Given the description of an element on the screen output the (x, y) to click on. 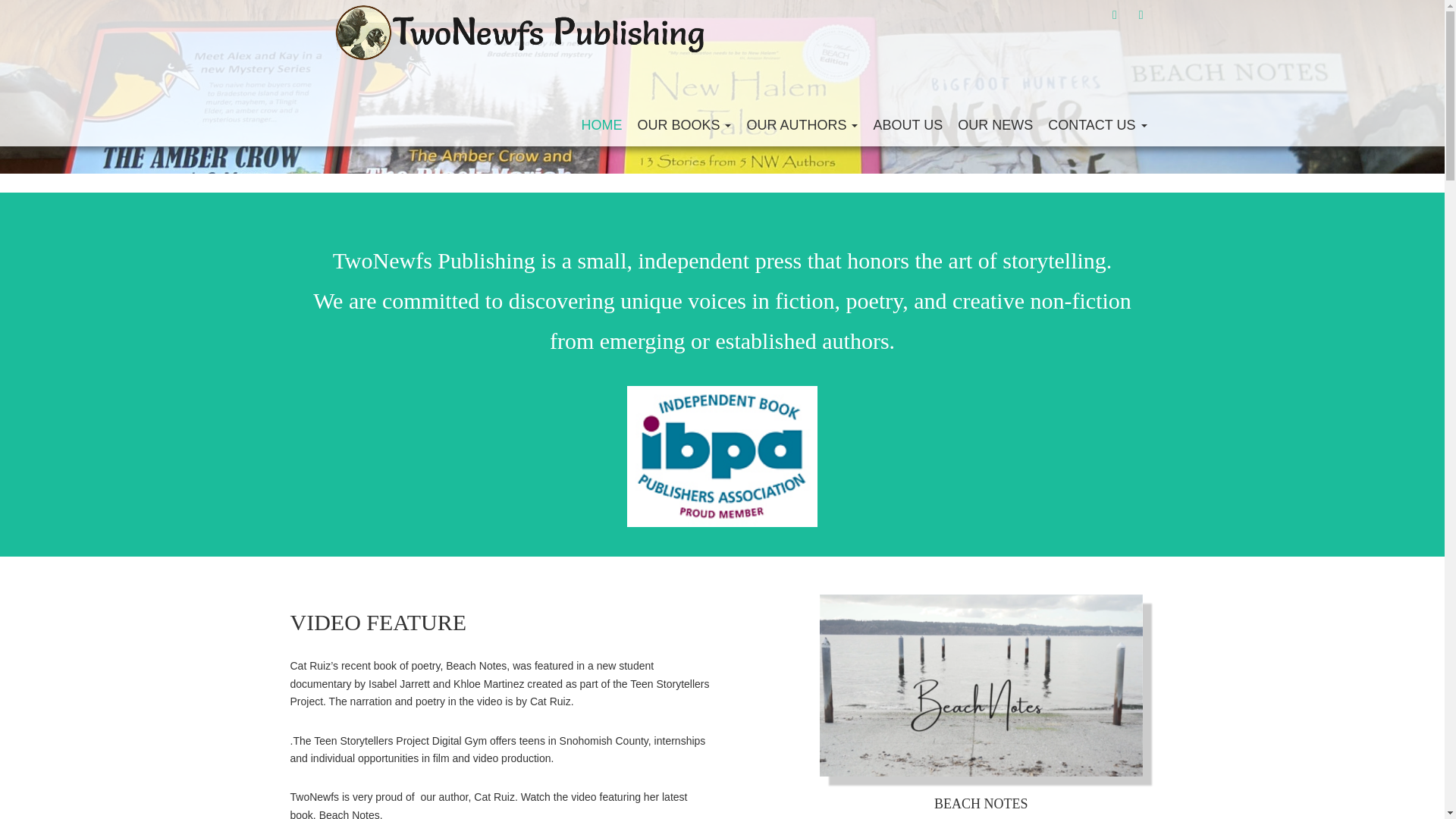
FACEBOOK (1114, 14)
OUR NEWS (995, 124)
HOME (600, 124)
Twitter (1141, 14)
Facebook (1114, 14)
TWITTER (1141, 14)
OUR AUTHORS (801, 124)
OUR BOOKS (683, 124)
ABOUT US (907, 124)
CONTACT US (1097, 124)
